Given the description of an element on the screen output the (x, y) to click on. 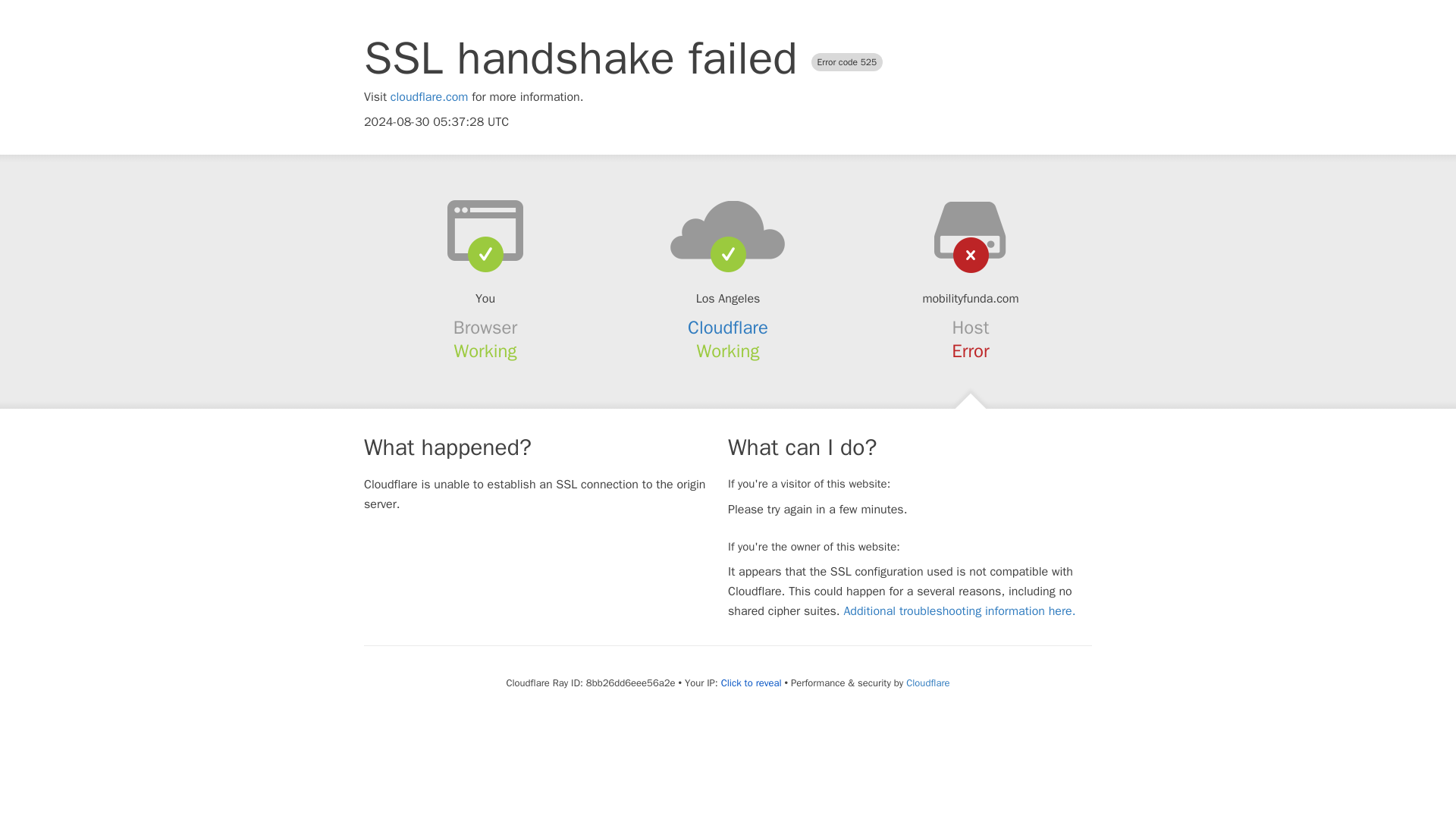
Additional troubleshooting information here. (959, 611)
Cloudflare (927, 682)
Click to reveal (750, 683)
cloudflare.com (429, 96)
Cloudflare (727, 327)
